Given the description of an element on the screen output the (x, y) to click on. 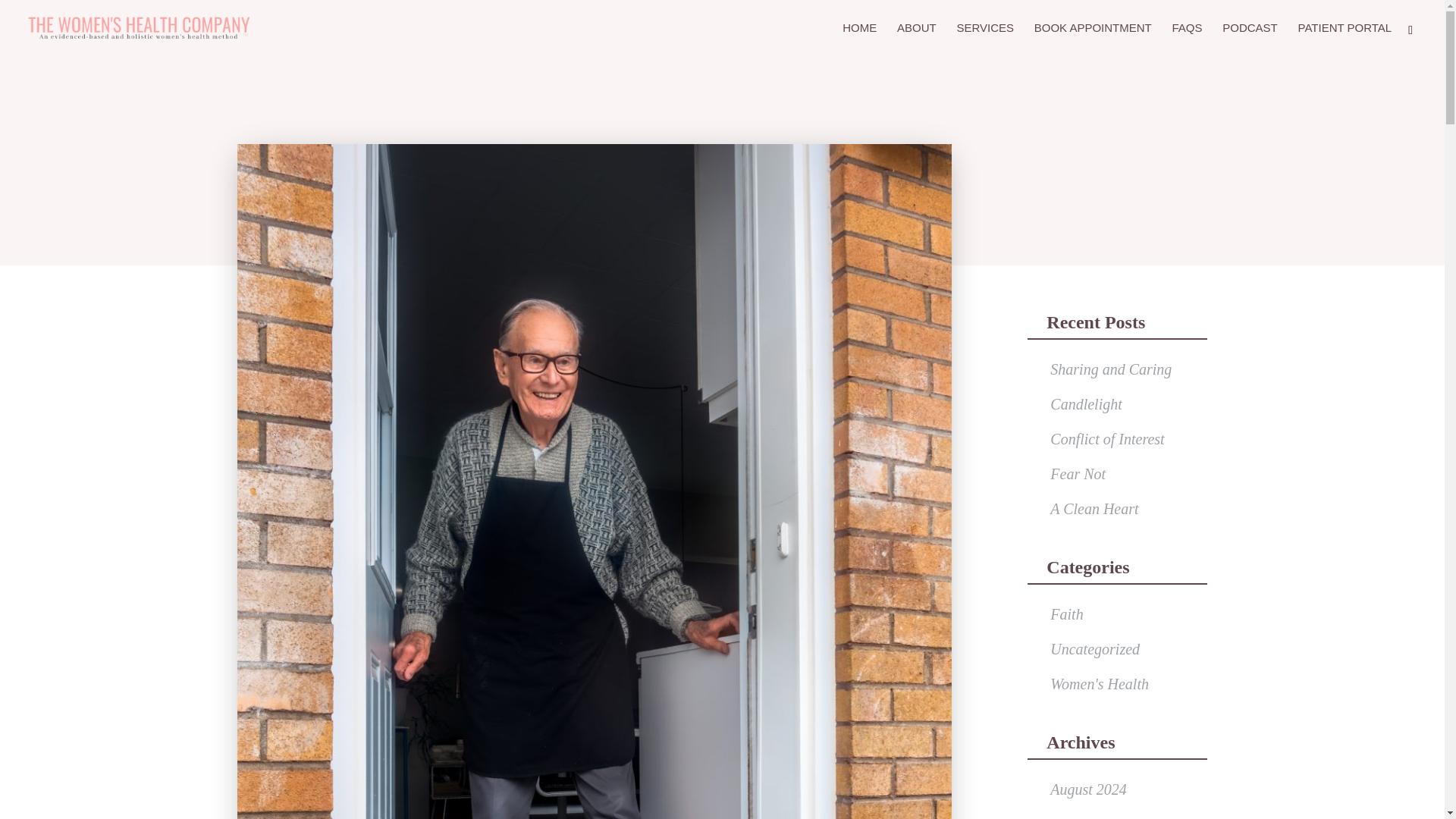
PATIENT PORTAL (1344, 39)
ABOUT (916, 39)
Faith (1066, 614)
SERVICES (984, 39)
BOOK APPOINTMENT (1092, 39)
Candlelight (1085, 403)
PODCAST (1250, 39)
July 2024 (1079, 817)
Conflict of Interest (1106, 438)
August 2024 (1087, 789)
Women's Health (1098, 683)
Uncategorized (1094, 648)
FAQS (1187, 39)
HOME (859, 39)
Fear Not (1077, 474)
